Given the description of an element on the screen output the (x, y) to click on. 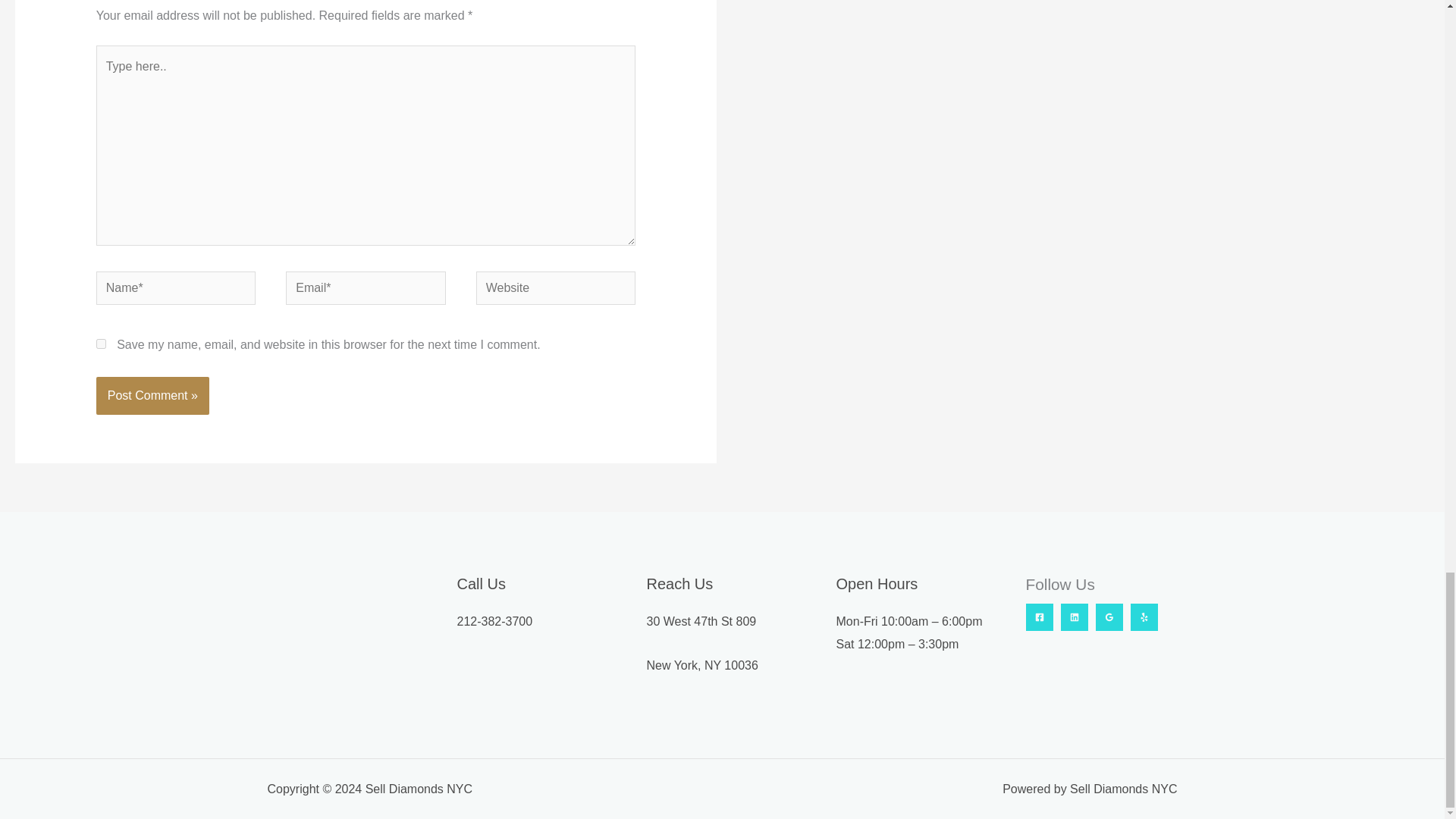
yes (101, 343)
